Given the description of an element on the screen output the (x, y) to click on. 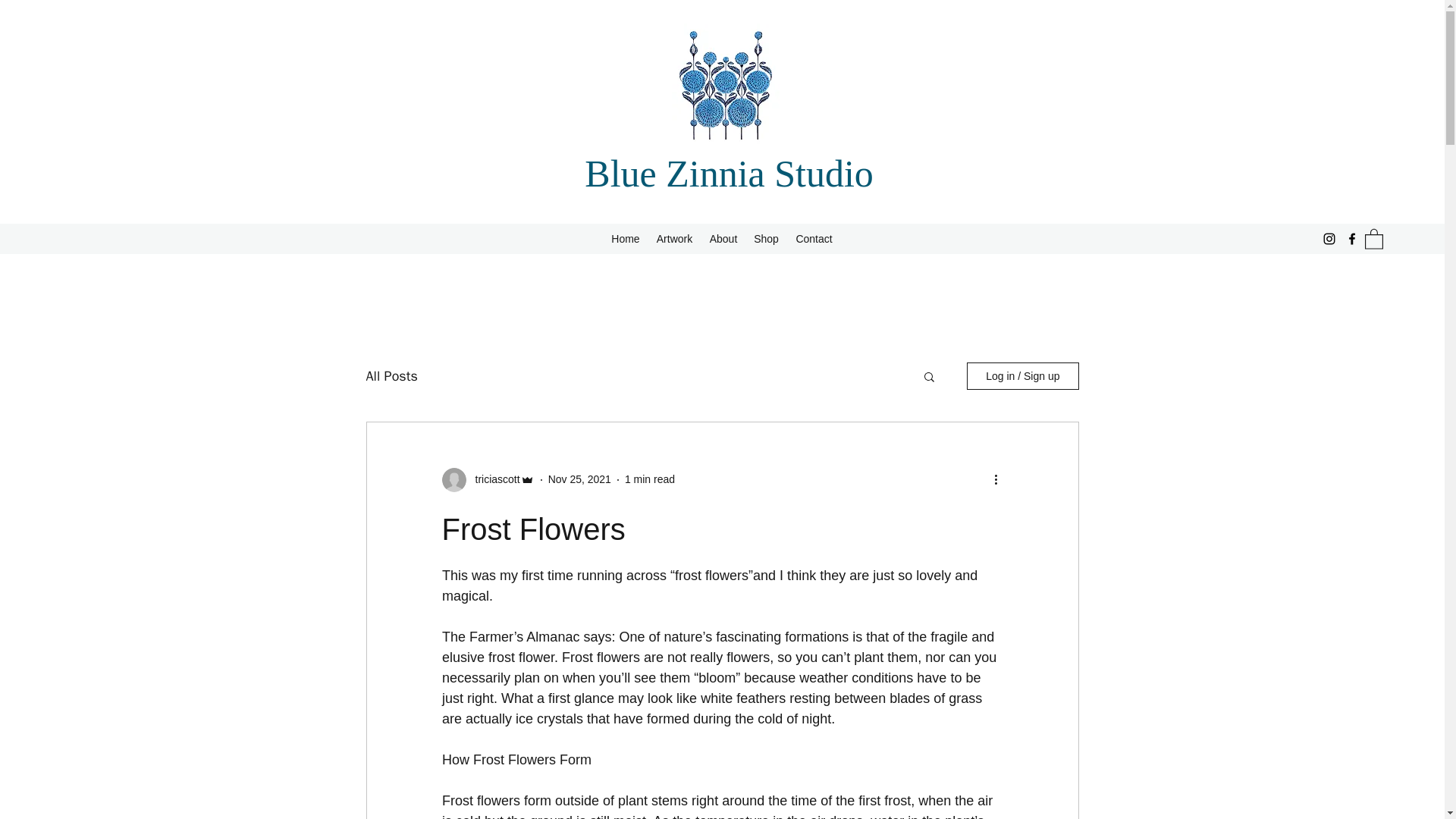
About (722, 238)
All Posts (390, 375)
Artwork (673, 238)
Nov 25, 2021 (579, 479)
triciascott (492, 479)
1 min read (649, 479)
Contact (814, 238)
Shop (766, 238)
Home (625, 238)
